Given the description of an element on the screen output the (x, y) to click on. 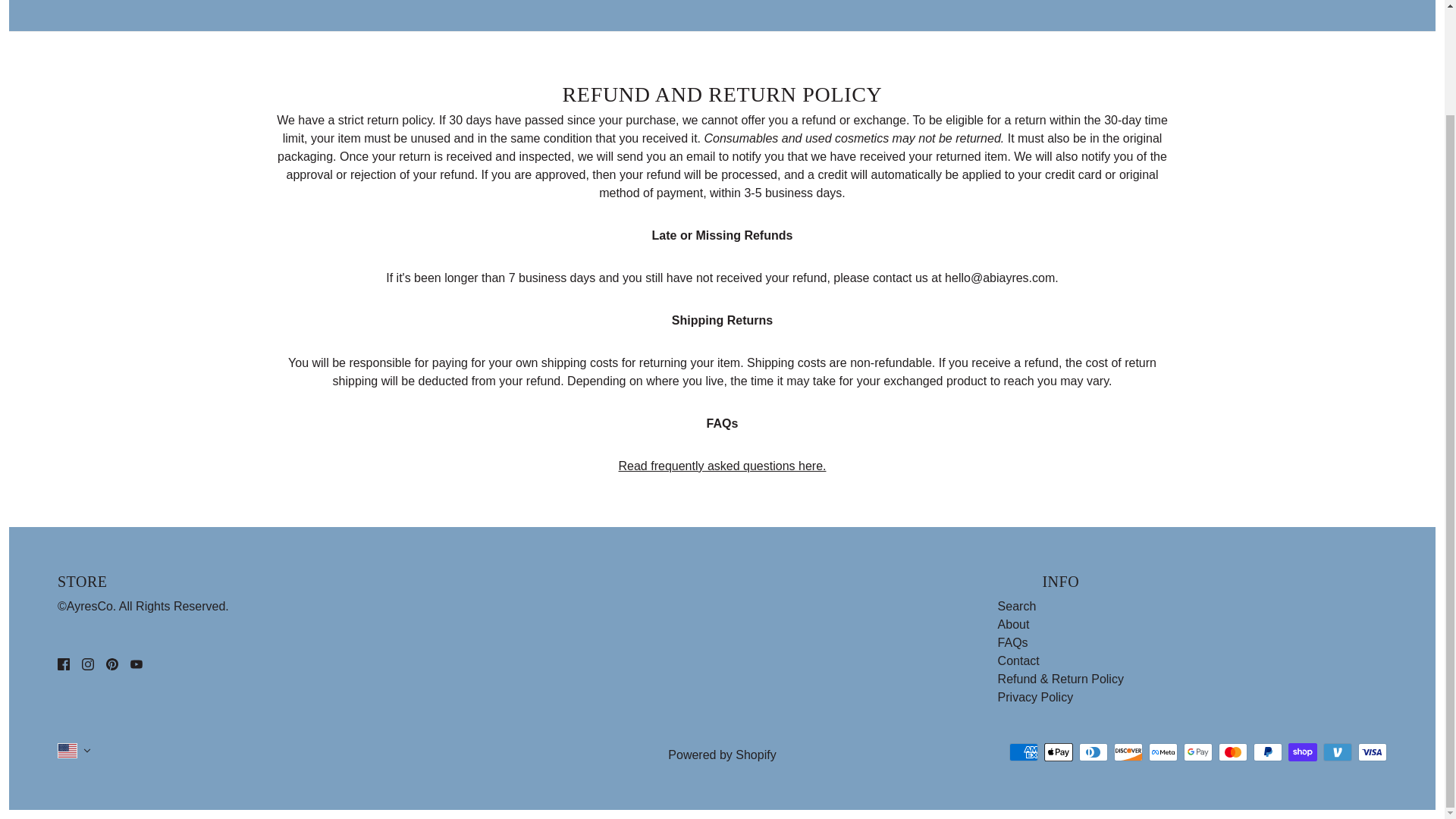
Privacy Policy (1035, 697)
FAQs (1012, 642)
FAQs (722, 465)
Abi Ayres (722, 2)
Contact (1018, 660)
About (1013, 624)
